Given the description of an element on the screen output the (x, y) to click on. 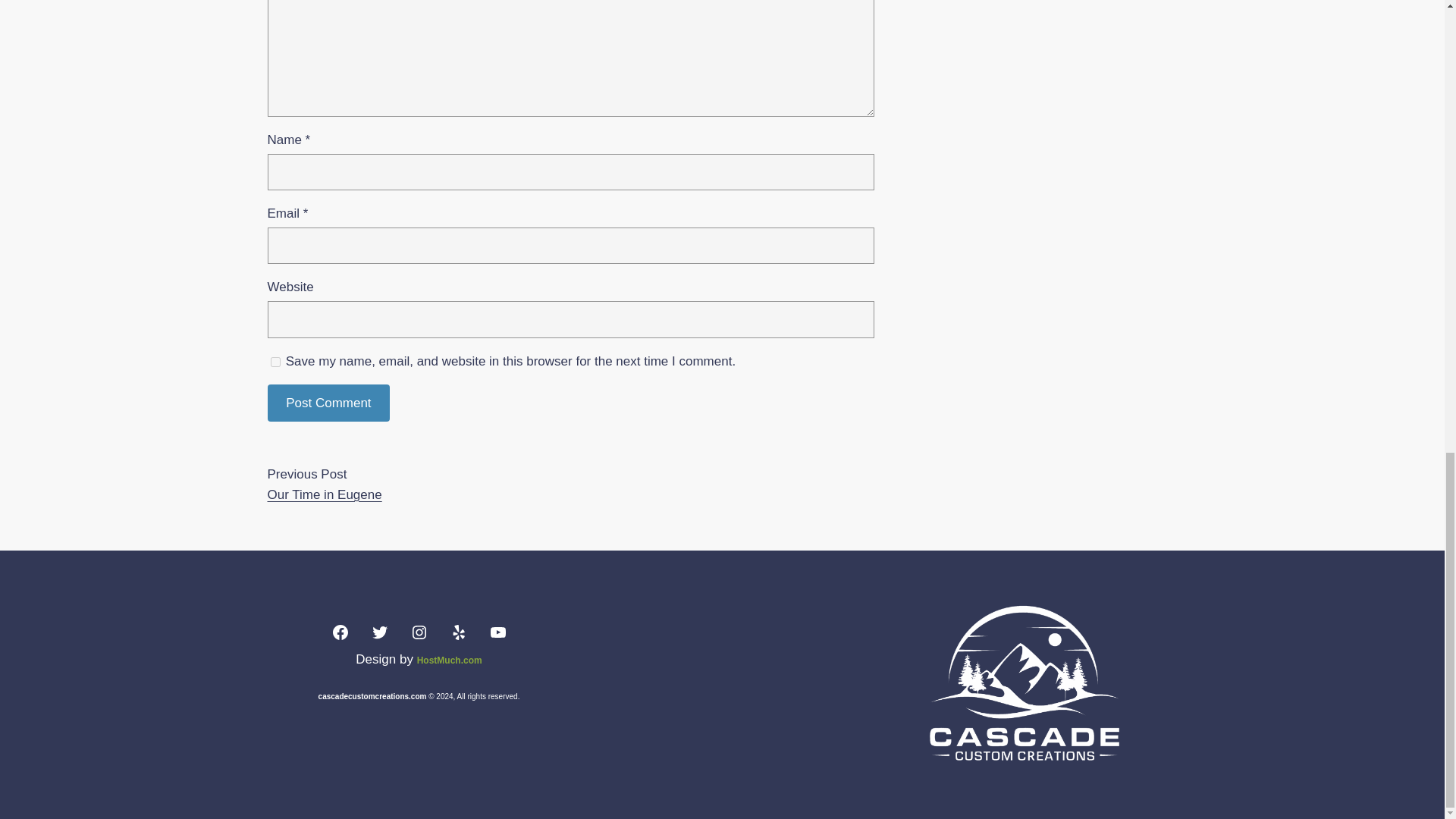
Post Comment (328, 402)
HostMuch.com (448, 660)
Twitter (378, 632)
Facebook (339, 632)
Instagram (418, 632)
Yelp (457, 632)
YouTube (496, 632)
Post Comment (328, 402)
Our Time in Eugene (323, 494)
